Given the description of an element on the screen output the (x, y) to click on. 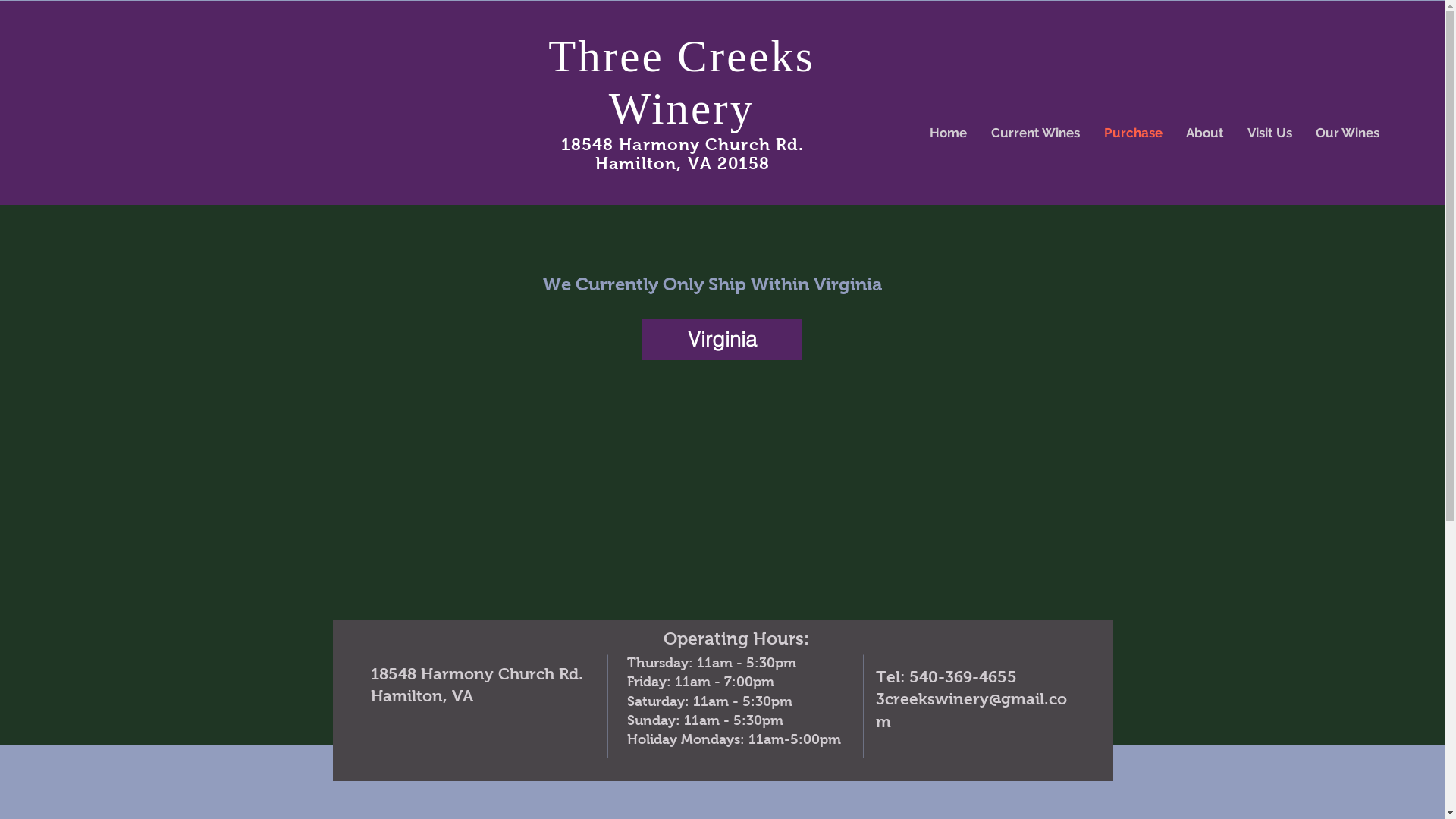
Purchase Element type: text (1132, 132)
Home Element type: text (948, 132)
Our Wines Element type: text (1346, 132)
Current Wines Element type: text (1035, 132)
Three Creeks Winery Element type: text (681, 82)
About Element type: text (1204, 132)
Visit Us Element type: text (1269, 132)
3creekswinery@gmail.com Element type: text (970, 709)
18548 Harmony Church Rd. Hamilton, VA 20158 Element type: text (682, 153)
Virginia Element type: text (721, 339)
